Given the description of an element on the screen output the (x, y) to click on. 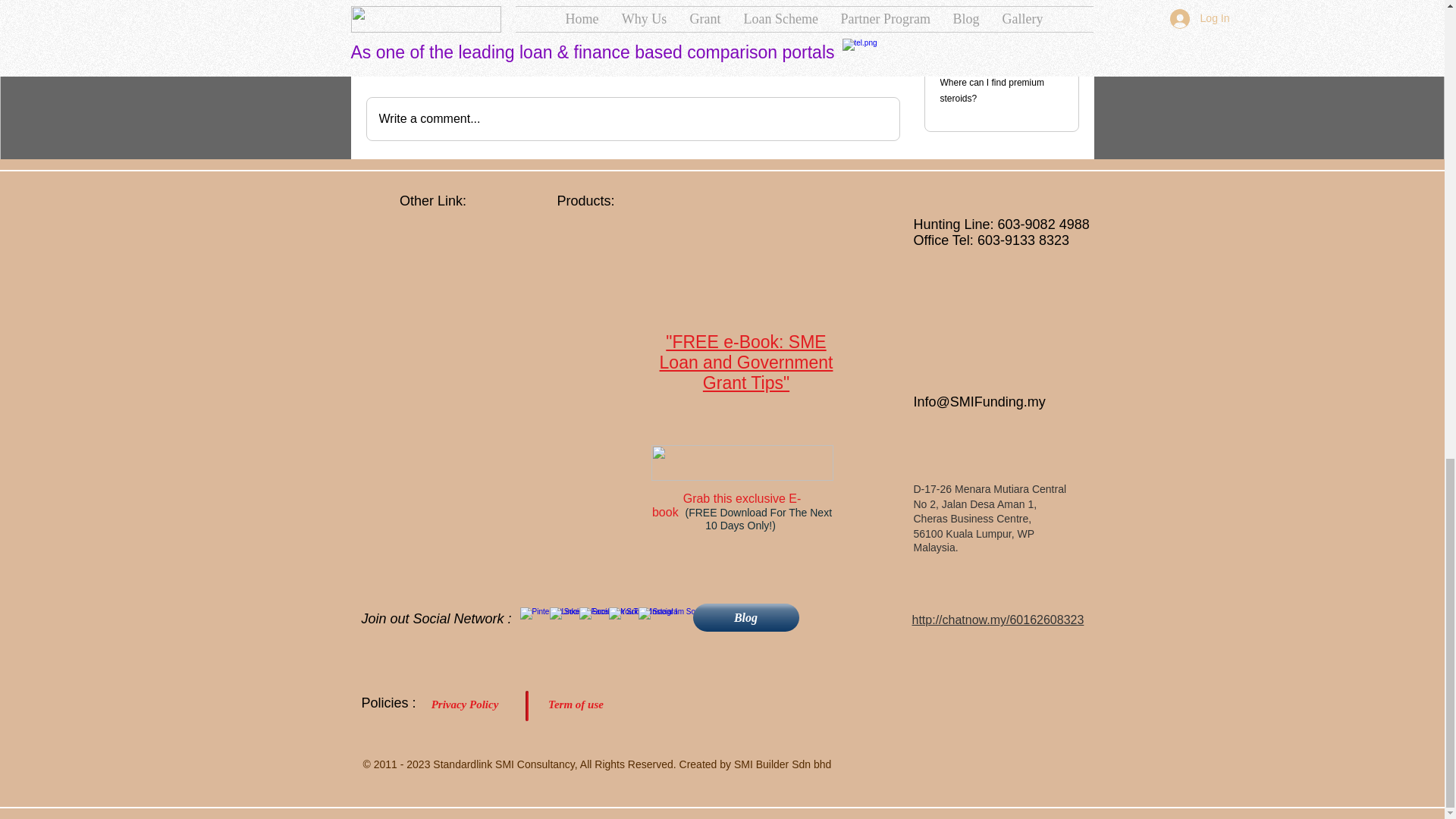
Share (451, 17)
Write a comment... (632, 118)
